Given the description of an element on the screen output the (x, y) to click on. 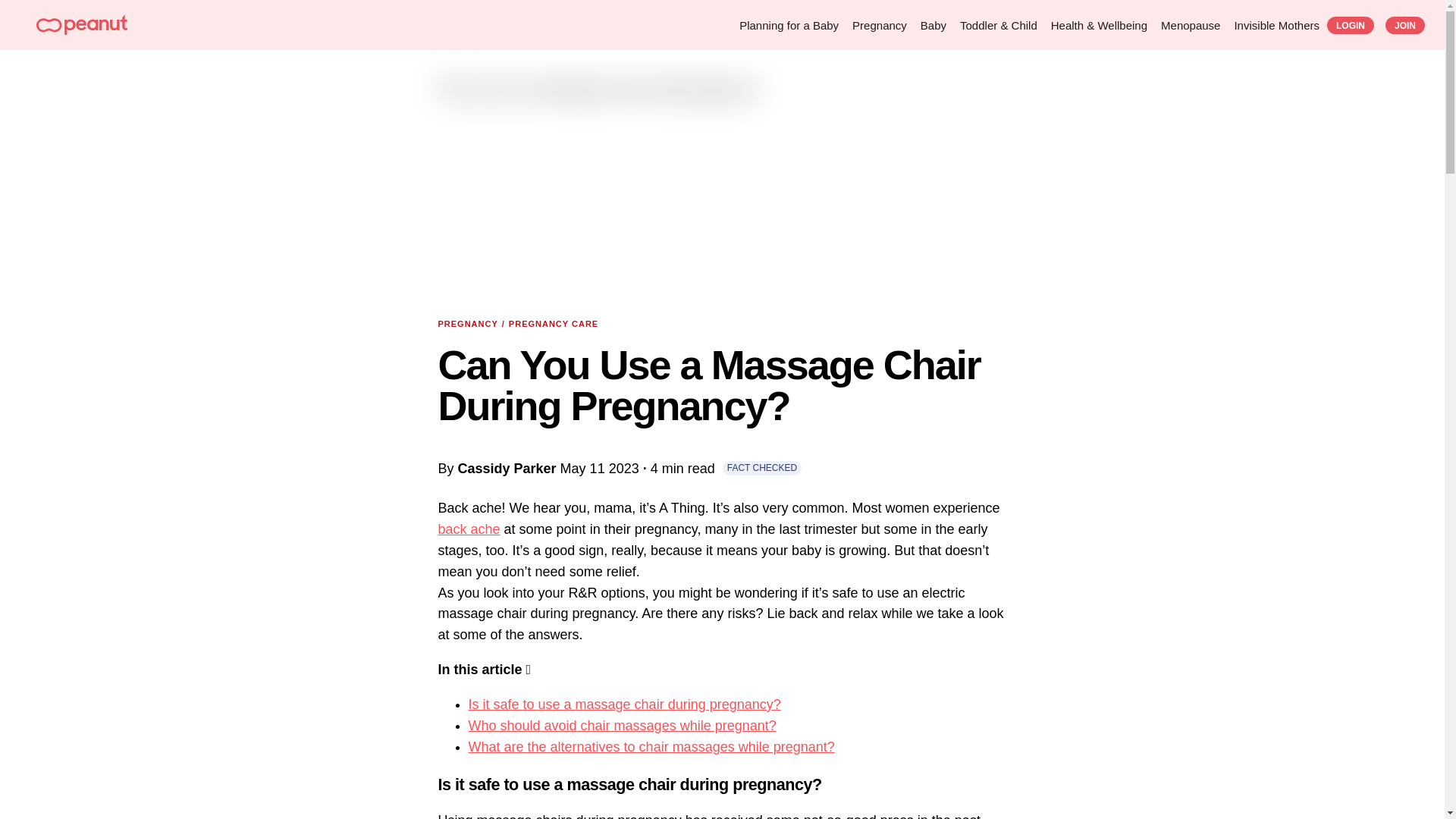
back ache (469, 529)
Invisible Mothers (1276, 25)
Cassidy Parker (507, 468)
PREGNANCY CARE (553, 323)
Menopause (1190, 25)
Pregnancy (879, 25)
LOGIN (1350, 25)
Planning for a Baby (788, 25)
PREGNANCY (467, 323)
JOIN (1405, 25)
